Given the description of an element on the screen output the (x, y) to click on. 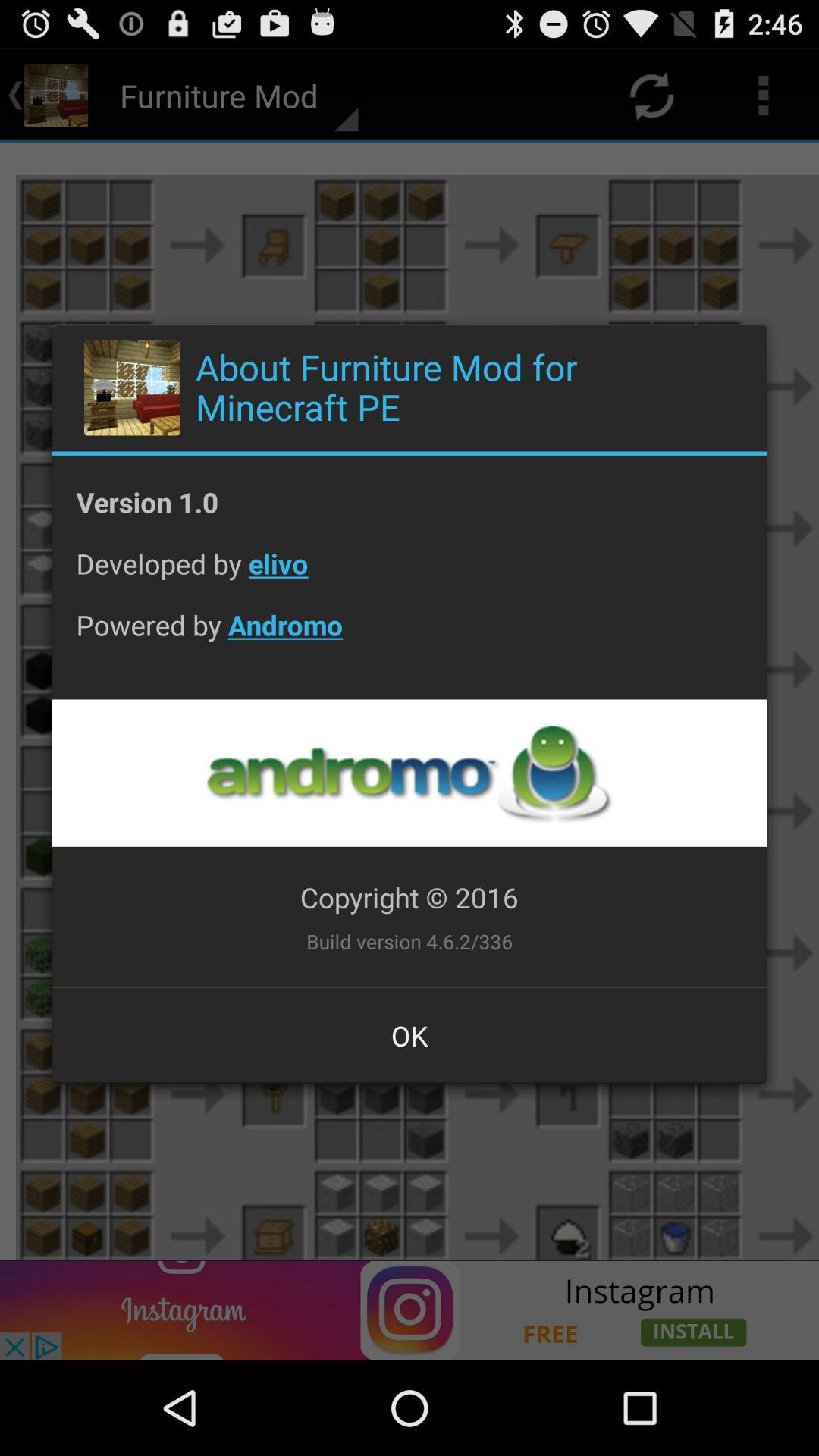
click the powered by andromo icon (409, 636)
